Given the description of an element on the screen output the (x, y) to click on. 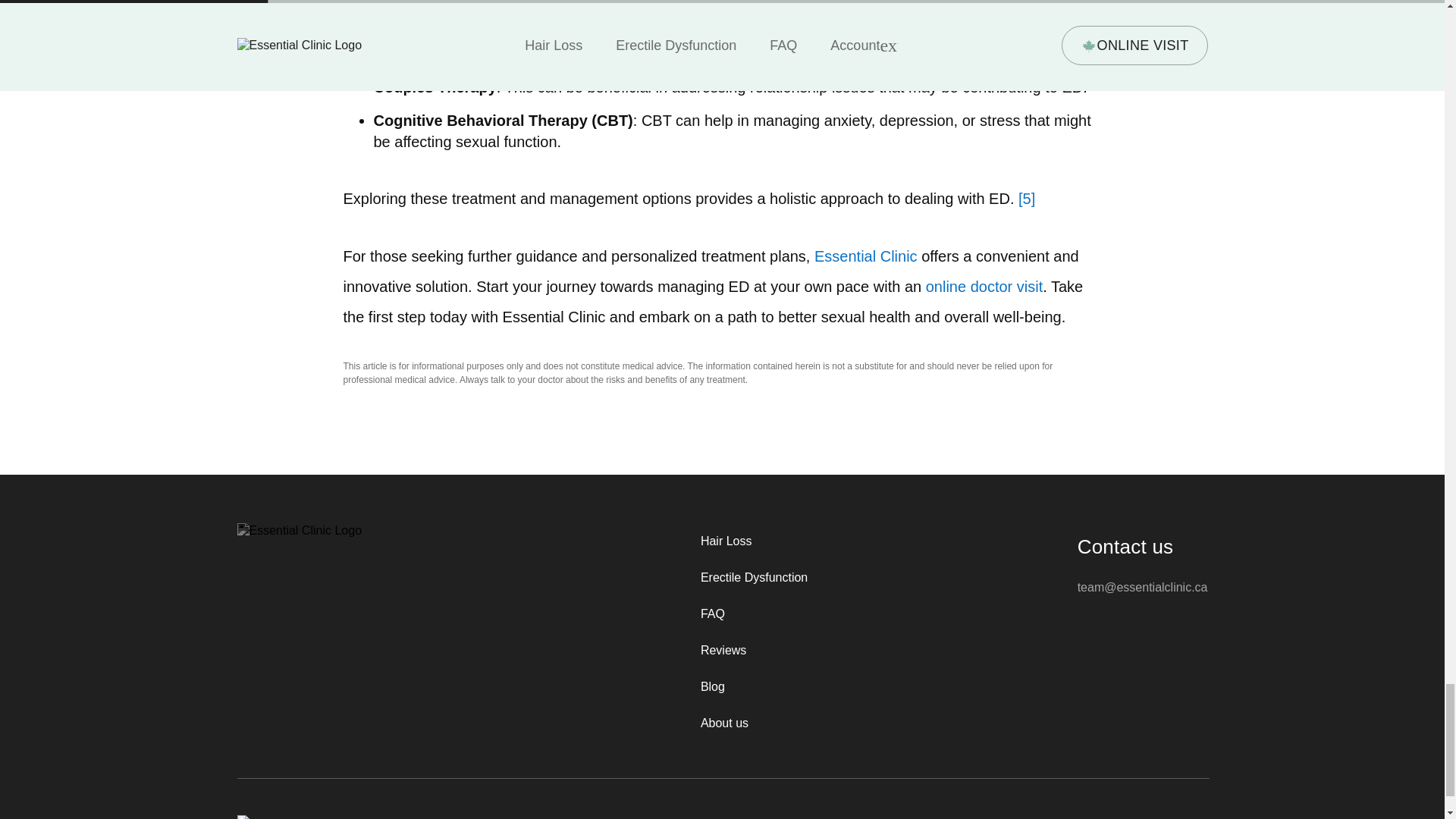
Erectile Dysfunction (753, 577)
FAQ (753, 614)
Blog (753, 687)
Essential Clinic (865, 256)
Hair Loss (753, 541)
Reviews (753, 650)
online doctor visit (984, 286)
Verify LegitScript Approval (260, 816)
About us (753, 723)
